Given the description of an element on the screen output the (x, y) to click on. 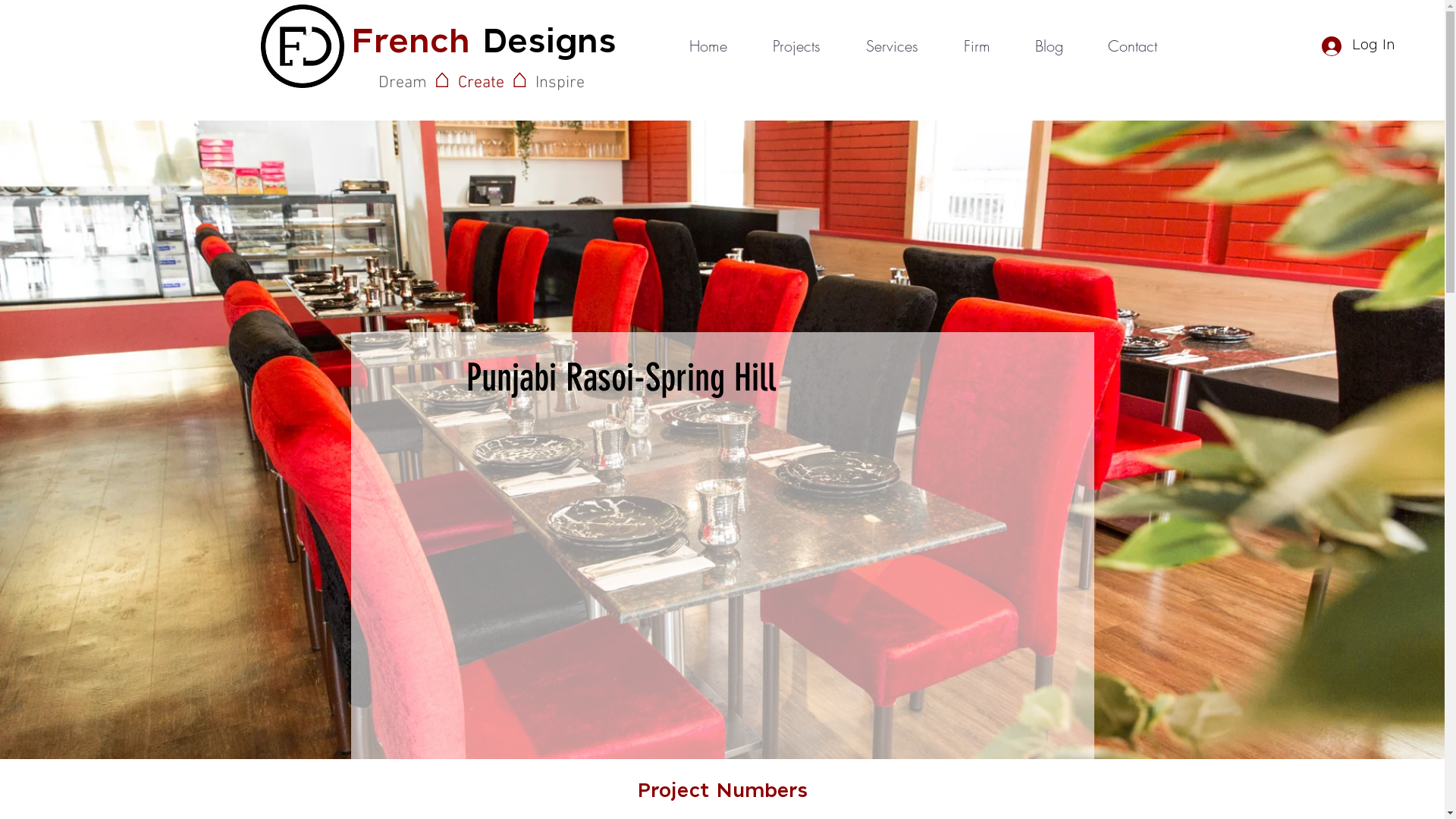
Projects Element type: text (795, 45)
Home Element type: text (708, 45)
Blog Element type: text (1047, 45)
Contact Element type: text (1131, 45)
Services Element type: text (892, 45)
Log In Element type: text (1357, 45)
Firm Element type: text (975, 45)
